Given the description of an element on the screen output the (x, y) to click on. 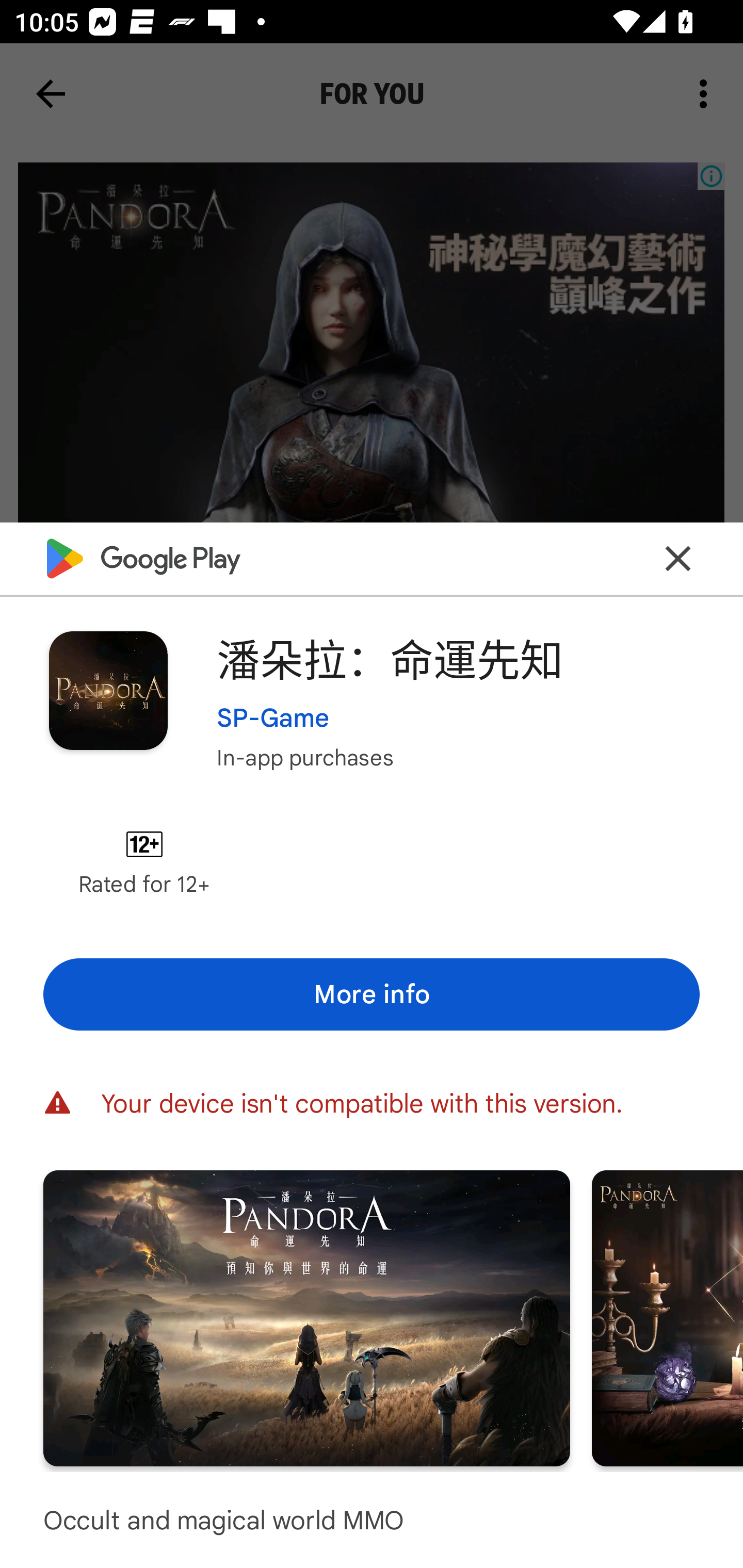
Close (677, 558)
Image of app or game icon for 潘朵拉：命運先知 (108, 690)
SP-Game (272, 716)
More info (371, 994)
Screenshot "1" of "6" (306, 1317)
